Given the description of an element on the screen output the (x, y) to click on. 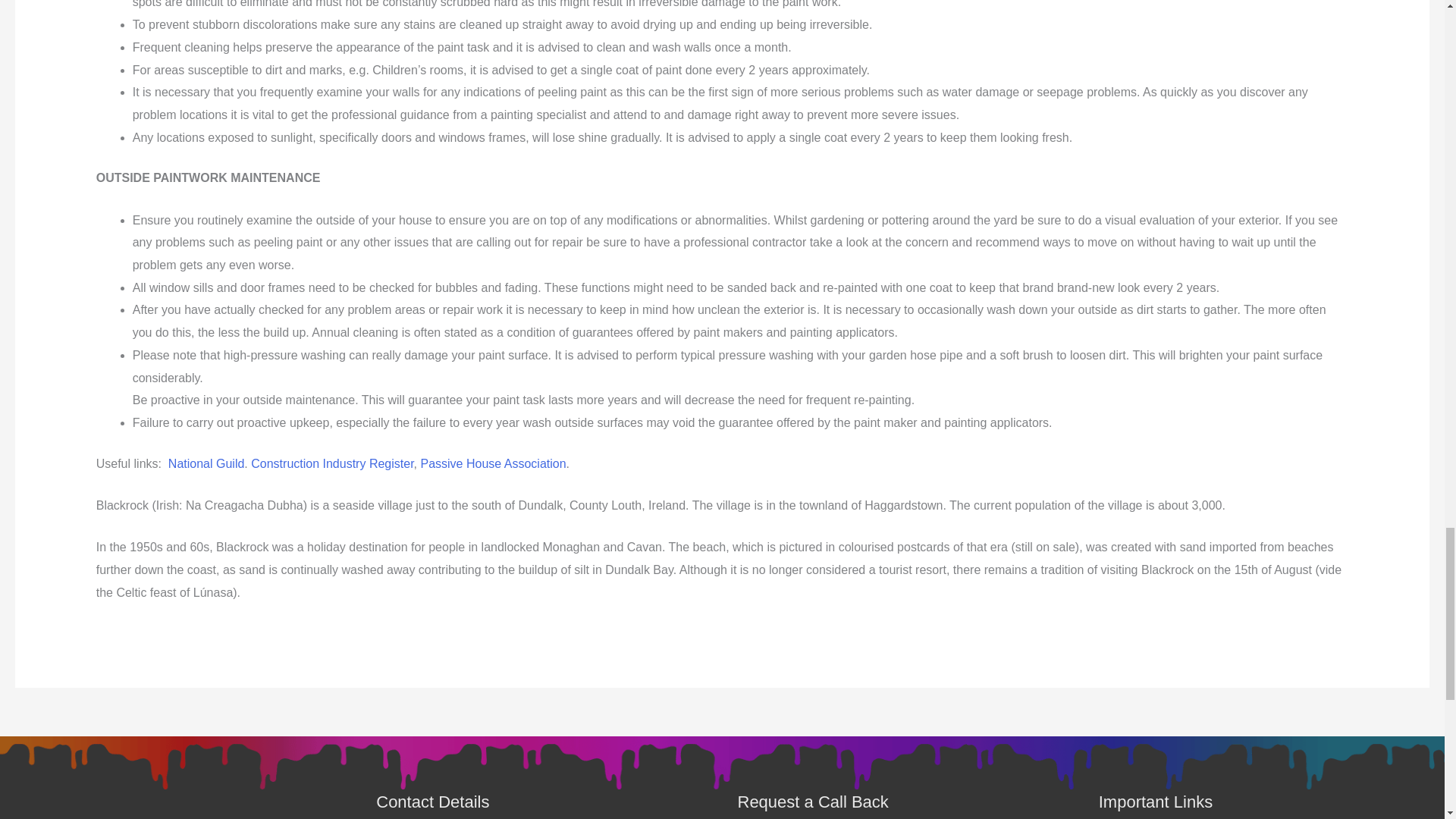
National Guild (206, 463)
Construction Industry Register (331, 463)
Passive House Association (493, 463)
